Given the description of an element on the screen output the (x, y) to click on. 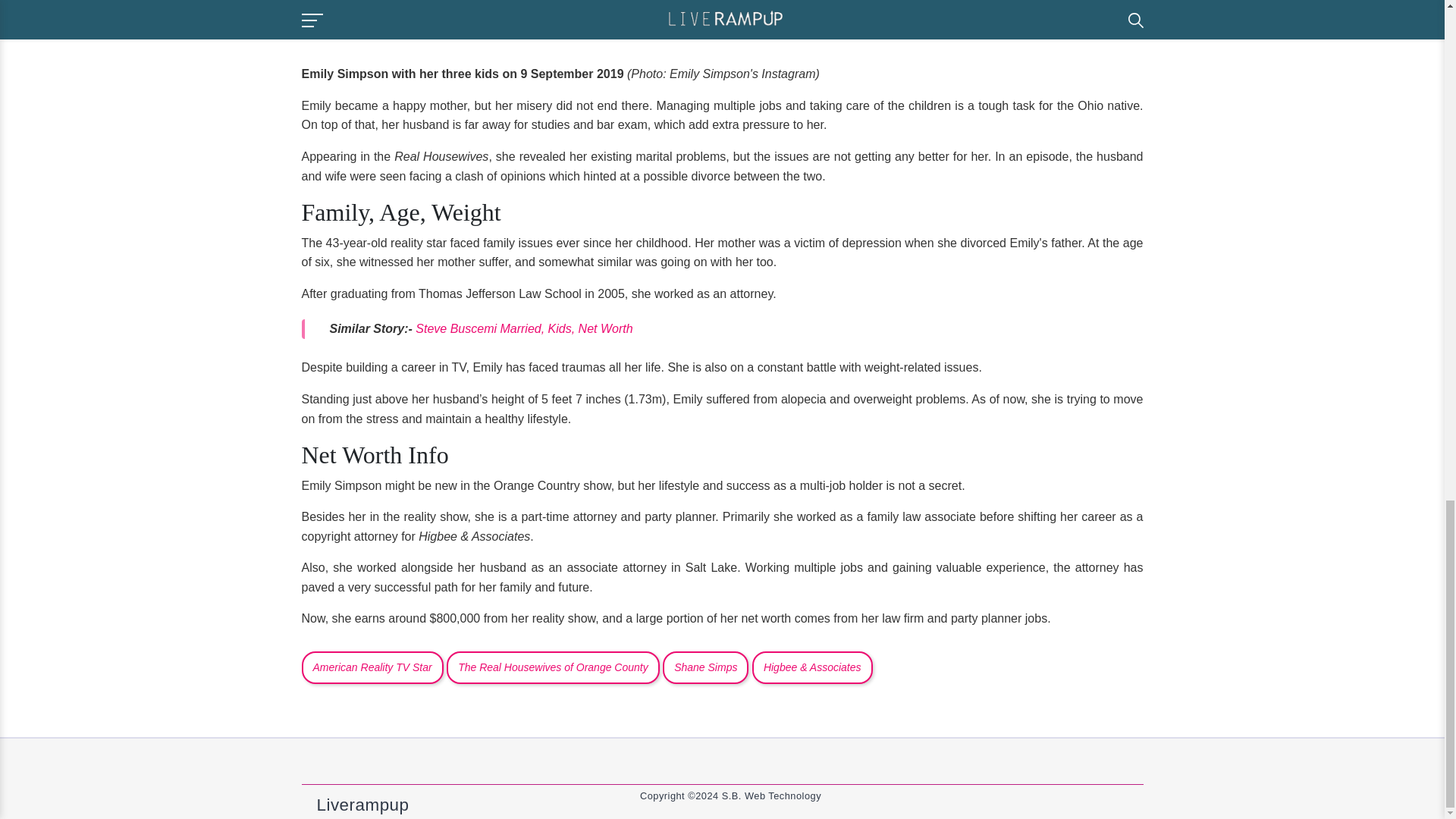
Steve Buscemi Married, Kids, Net Worth (522, 328)
